Given the description of an element on the screen output the (x, y) to click on. 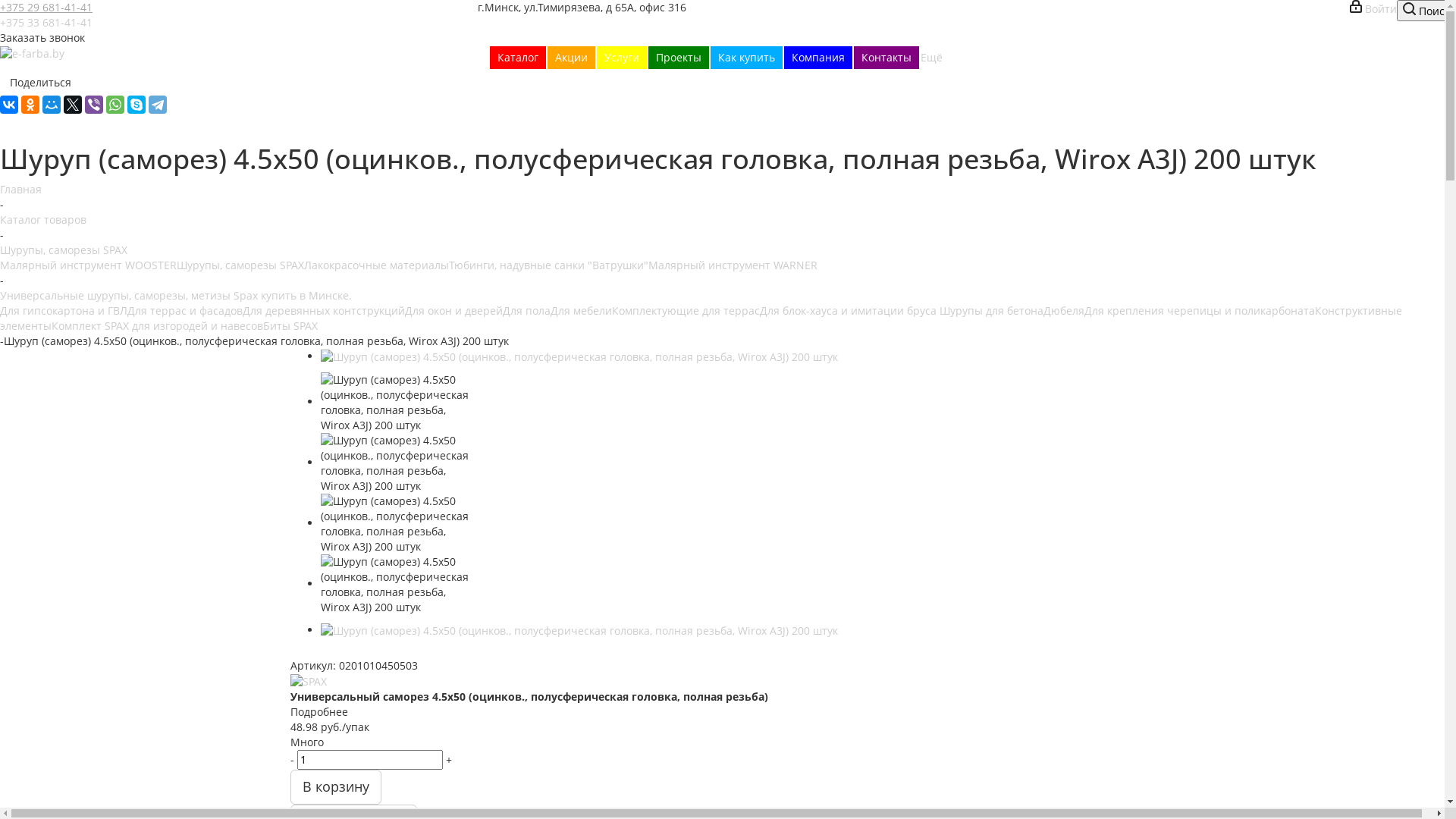
 SPAX Element type: hover (307, 681)
+375 29 681-41-41 Element type: text (46, 7)
Viber Element type: hover (93, 104)
Skype Element type: hover (136, 104)
3 Element type: hover (325, 652)
5 Element type: hover (354, 652)
e-farba.by Element type: hover (32, 53)
Telegram Element type: hover (157, 104)
2 Element type: hover (311, 652)
WhatsApp Element type: hover (115, 104)
Twitter Element type: hover (72, 104)
4 Element type: hover (340, 652)
+375 33 681-41-41 Element type: text (46, 22)
1 Element type: hover (296, 652)
